Given the description of an element on the screen output the (x, y) to click on. 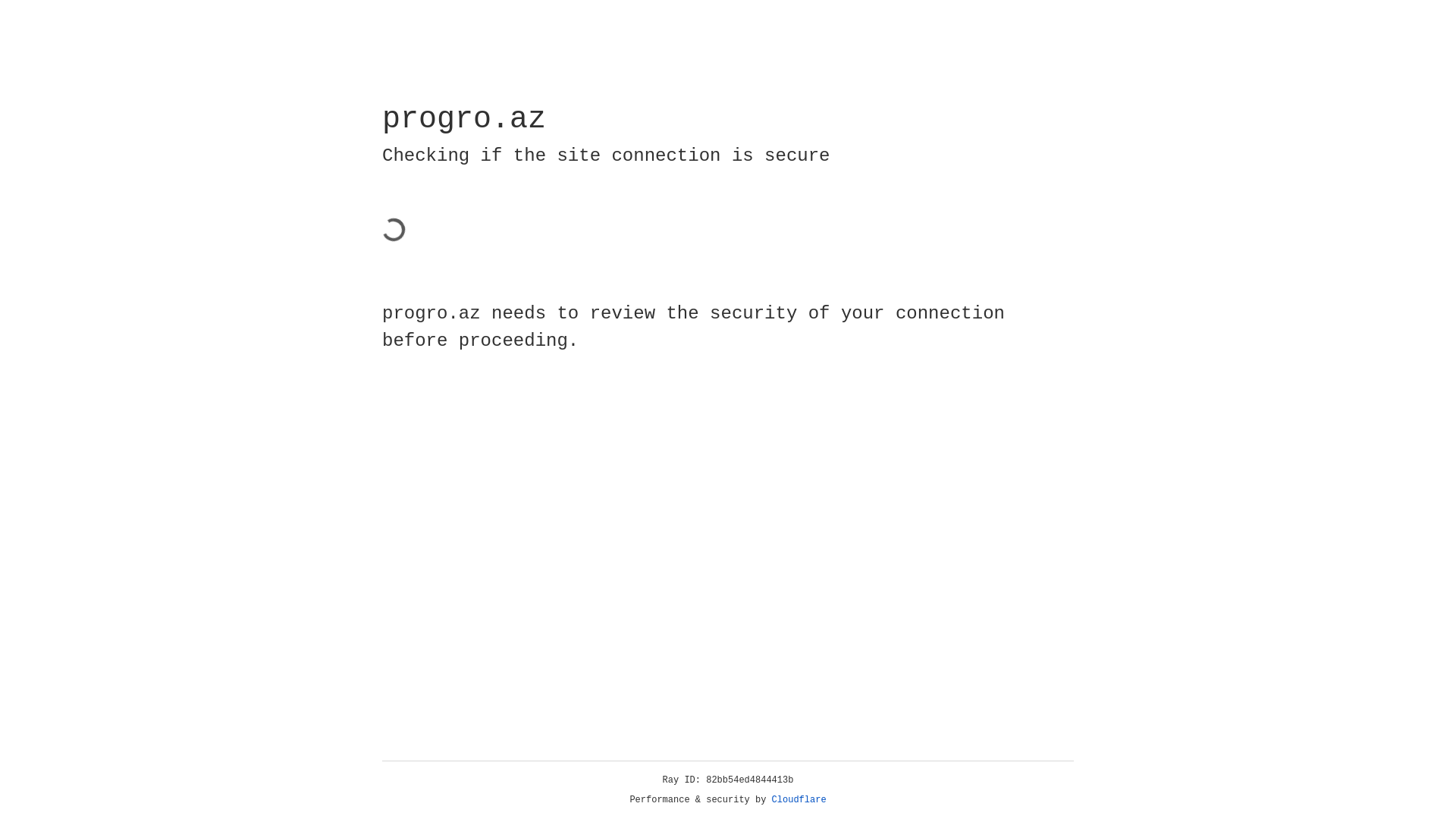
Cloudflare Element type: text (798, 799)
